Given the description of an element on the screen output the (x, y) to click on. 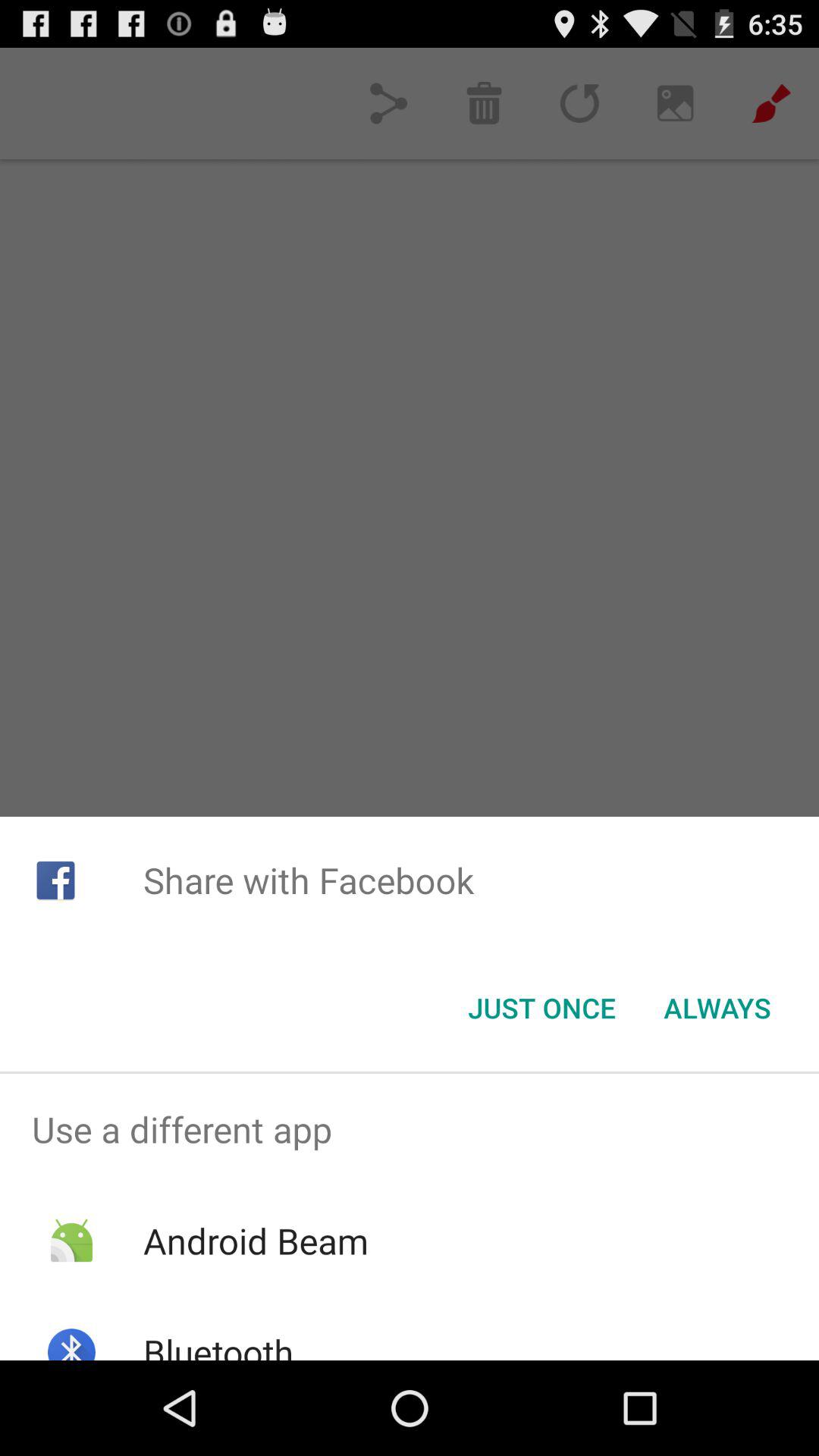
press the icon below the use a different item (255, 1240)
